Given the description of an element on the screen output the (x, y) to click on. 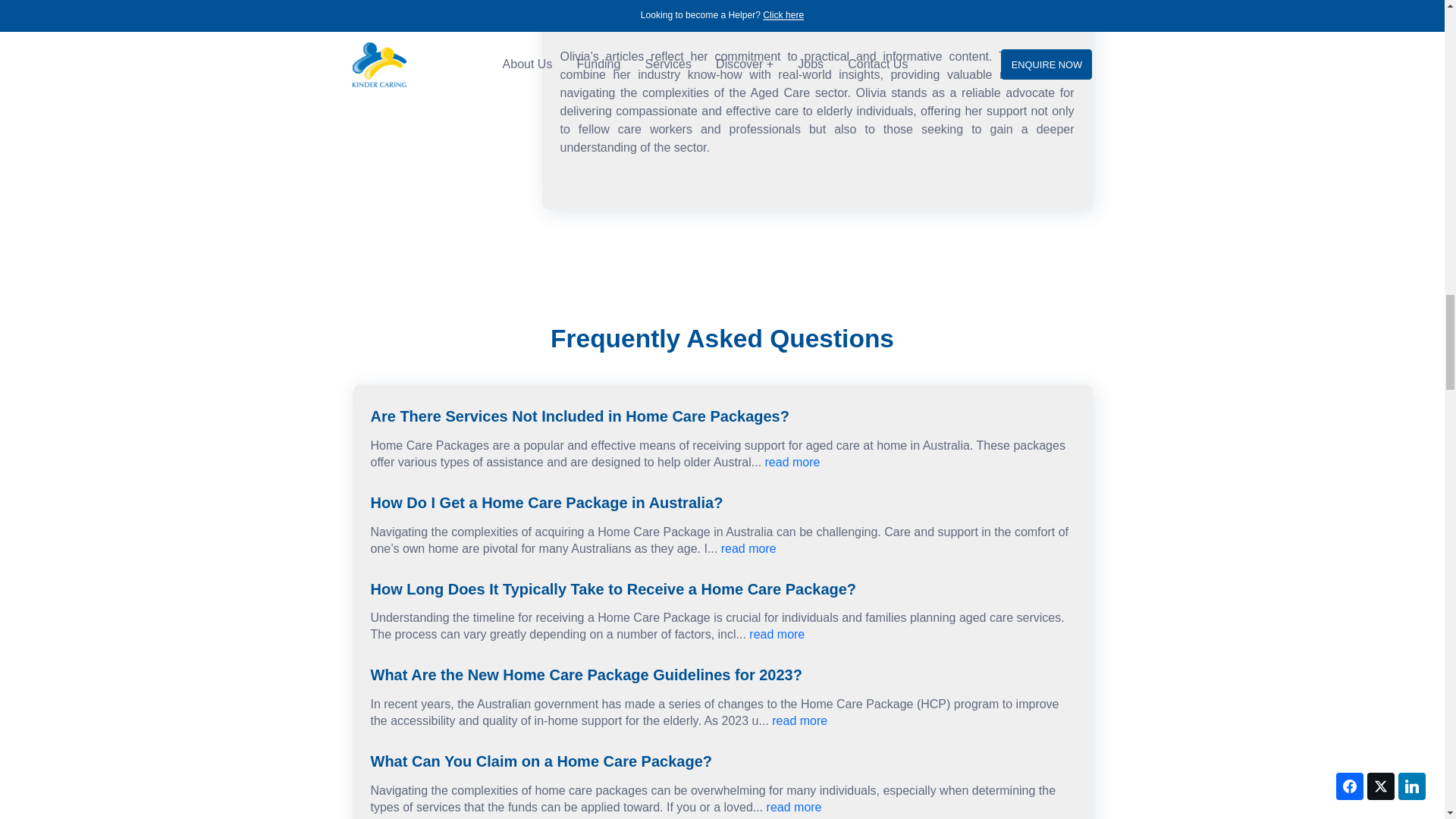
read more (748, 548)
read more (799, 720)
read more (794, 807)
read more (777, 634)
read more (793, 461)
